Given the description of an element on the screen output the (x, y) to click on. 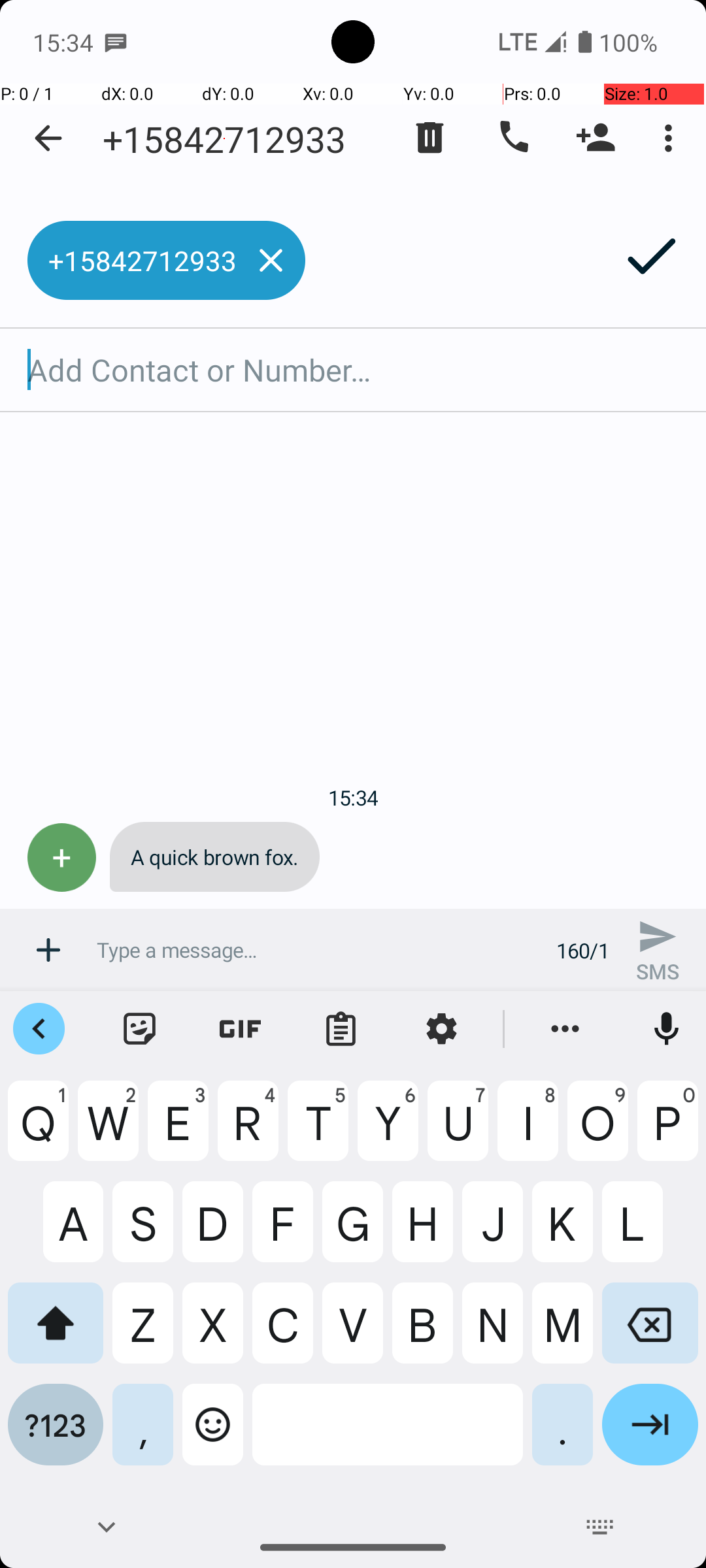
+15842712933 Element type: android.widget.TextView (223, 138)
160/1 Element type: android.widget.TextView (582, 950)
A quick brown fox. Element type: android.widget.TextView (214, 856)
